Given the description of an element on the screen output the (x, y) to click on. 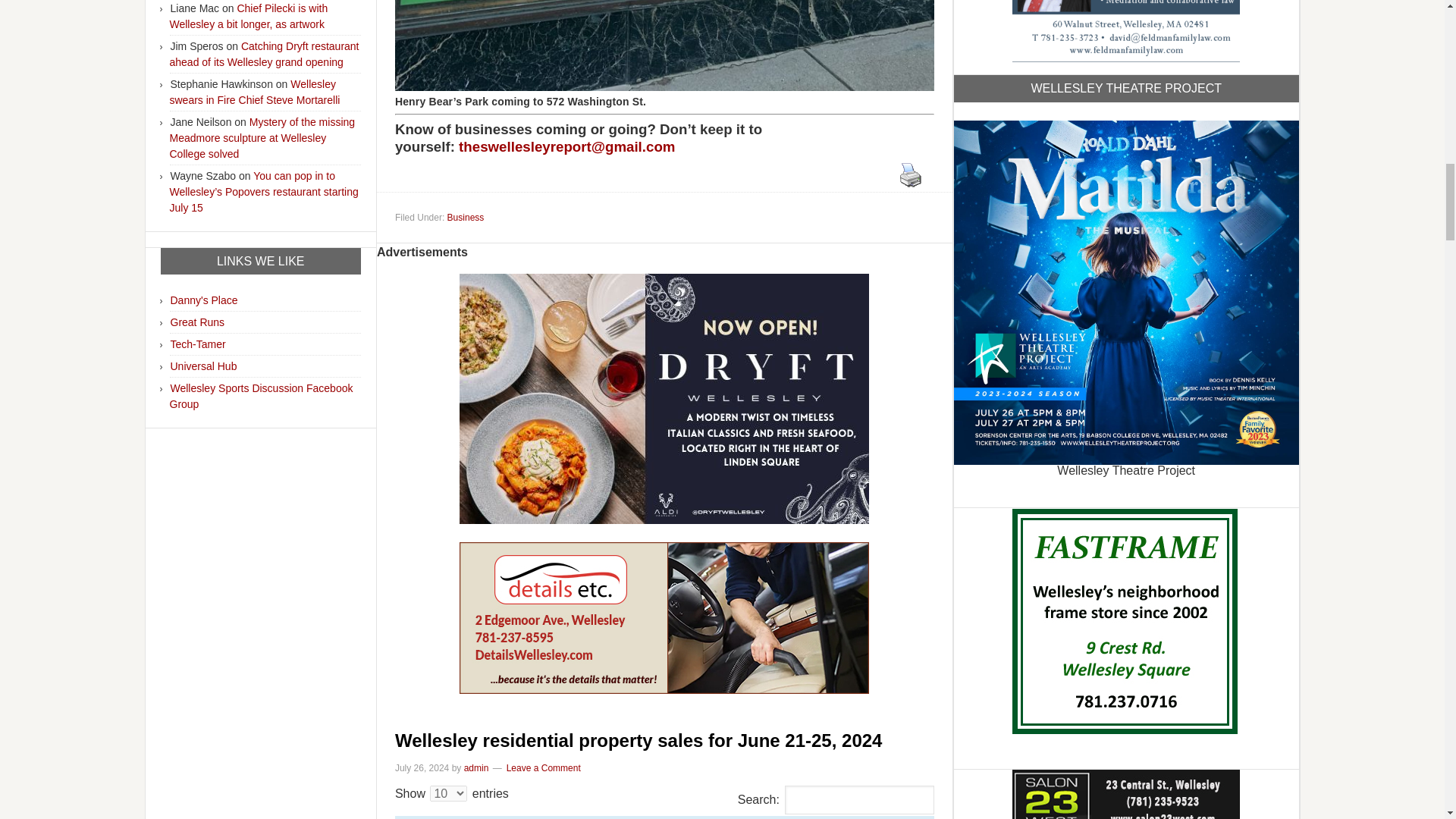
Business (465, 217)
Print Content (910, 174)
Wellesley Theatre Project (1125, 289)
